Given the description of an element on the screen output the (x, y) to click on. 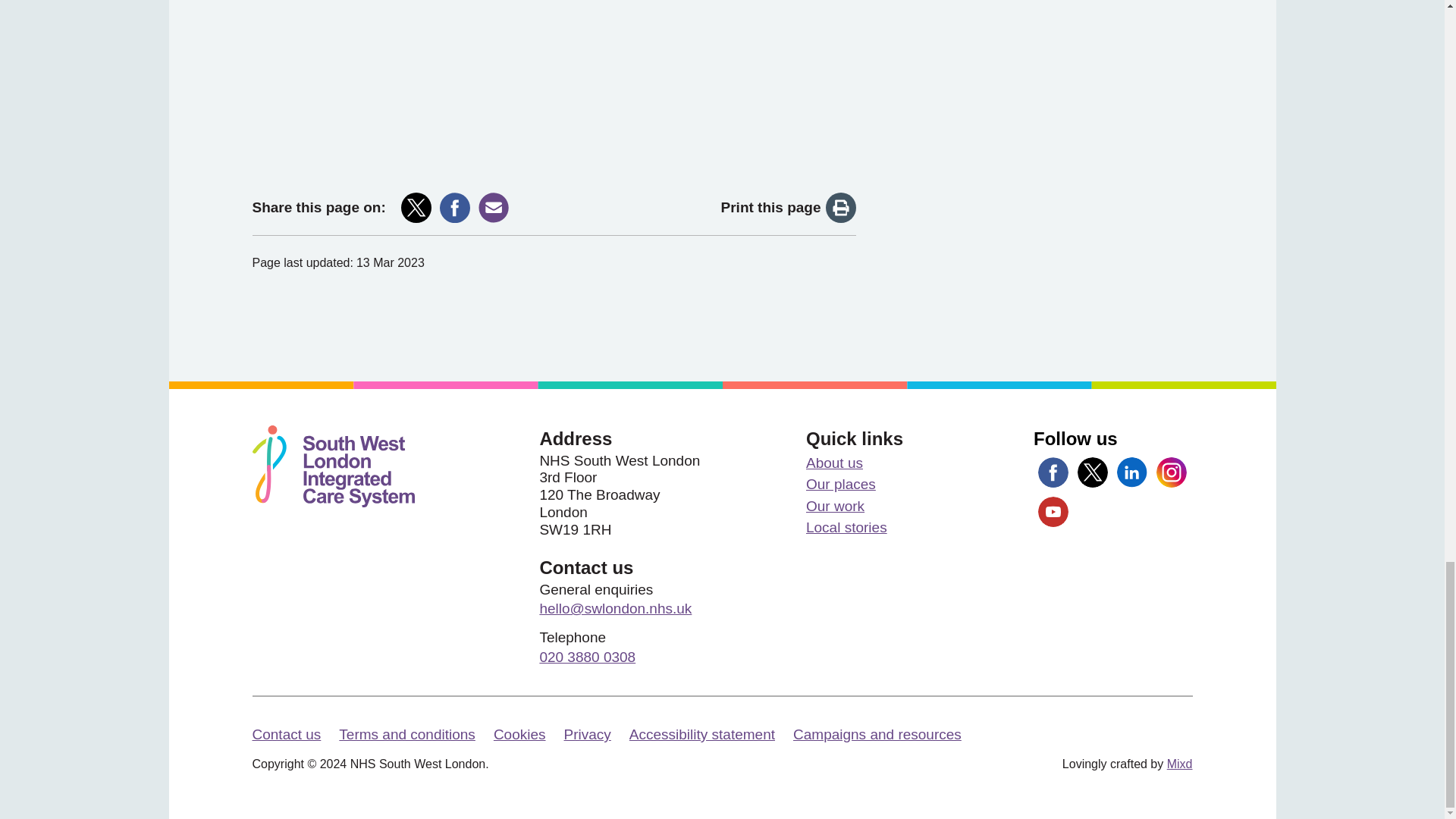
Share on Facebook (454, 207)
Share via Email (493, 207)
South West London ICS Homepage (332, 465)
Share on X (415, 207)
GP mental health summit (553, 79)
